Given the description of an element on the screen output the (x, y) to click on. 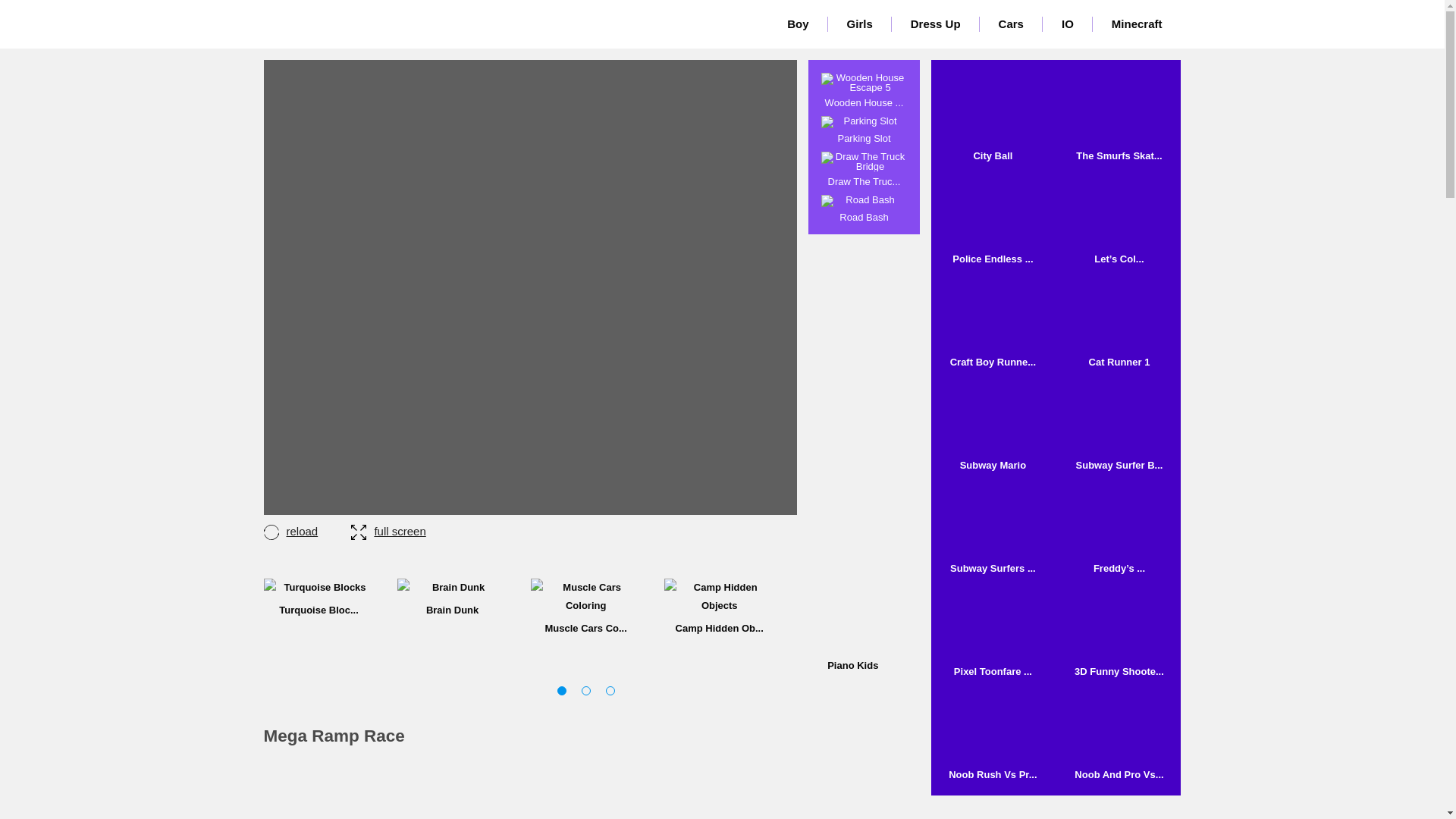
Road Bash (864, 208)
Draw The Truck Bridge (864, 169)
Brain Dunk (452, 596)
Road Bash (864, 208)
Brain Dunk (452, 596)
Minecraft (1136, 24)
Camp Hidden Objects (718, 596)
full screen (387, 530)
Camp Hidden Objects (718, 605)
Turquoise Bloc... (318, 596)
